Given the description of an element on the screen output the (x, y) to click on. 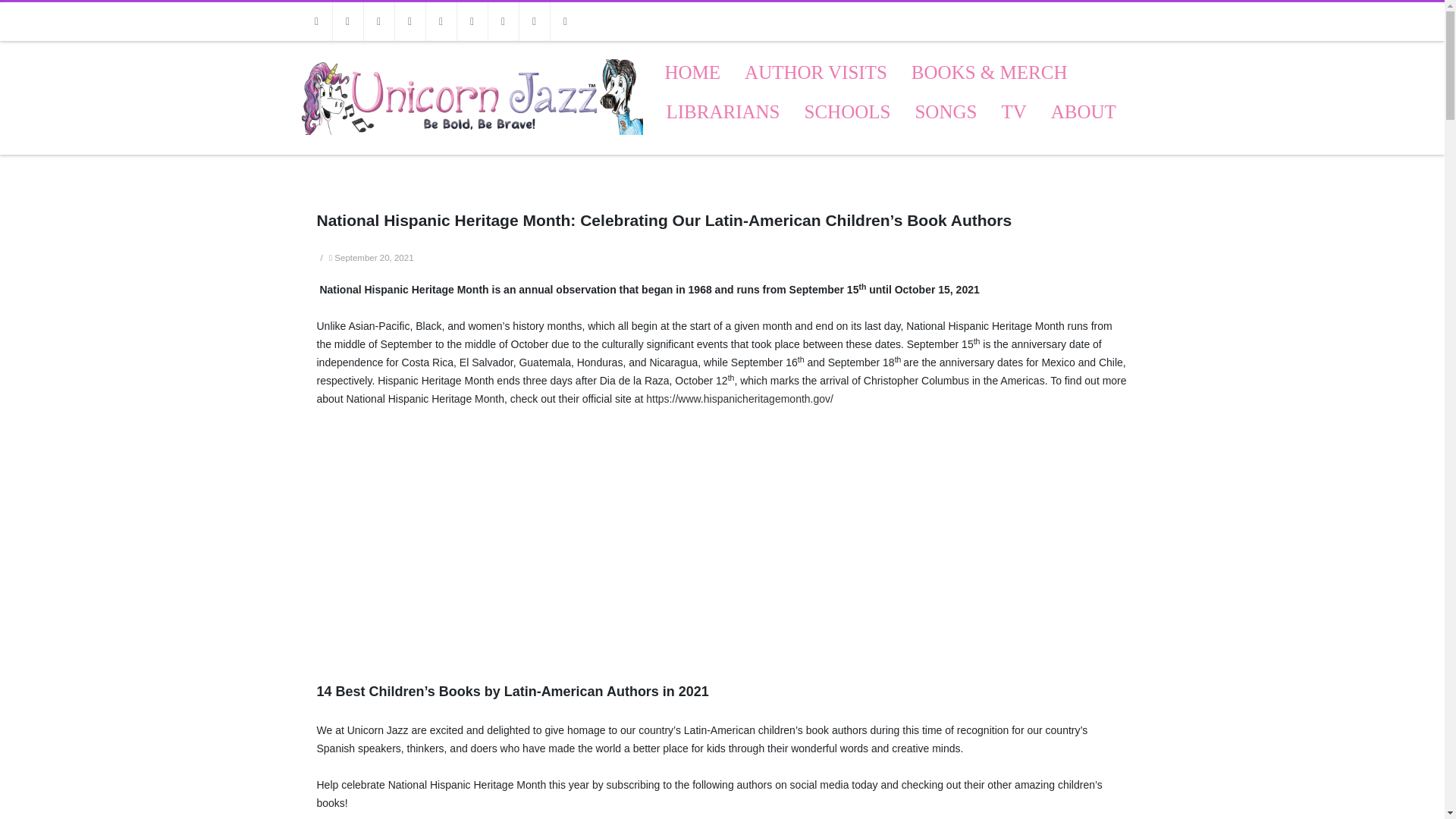
Unicorn Jazz (472, 149)
National Hispanic Heritage Month.mp4 (506, 532)
TV (1013, 111)
LIBRARIANS (723, 111)
SONGS (945, 111)
SCHOOLS (847, 111)
HOME (692, 72)
ABOUT (1082, 111)
AUTHOR VISITS (815, 72)
